Given the description of an element on the screen output the (x, y) to click on. 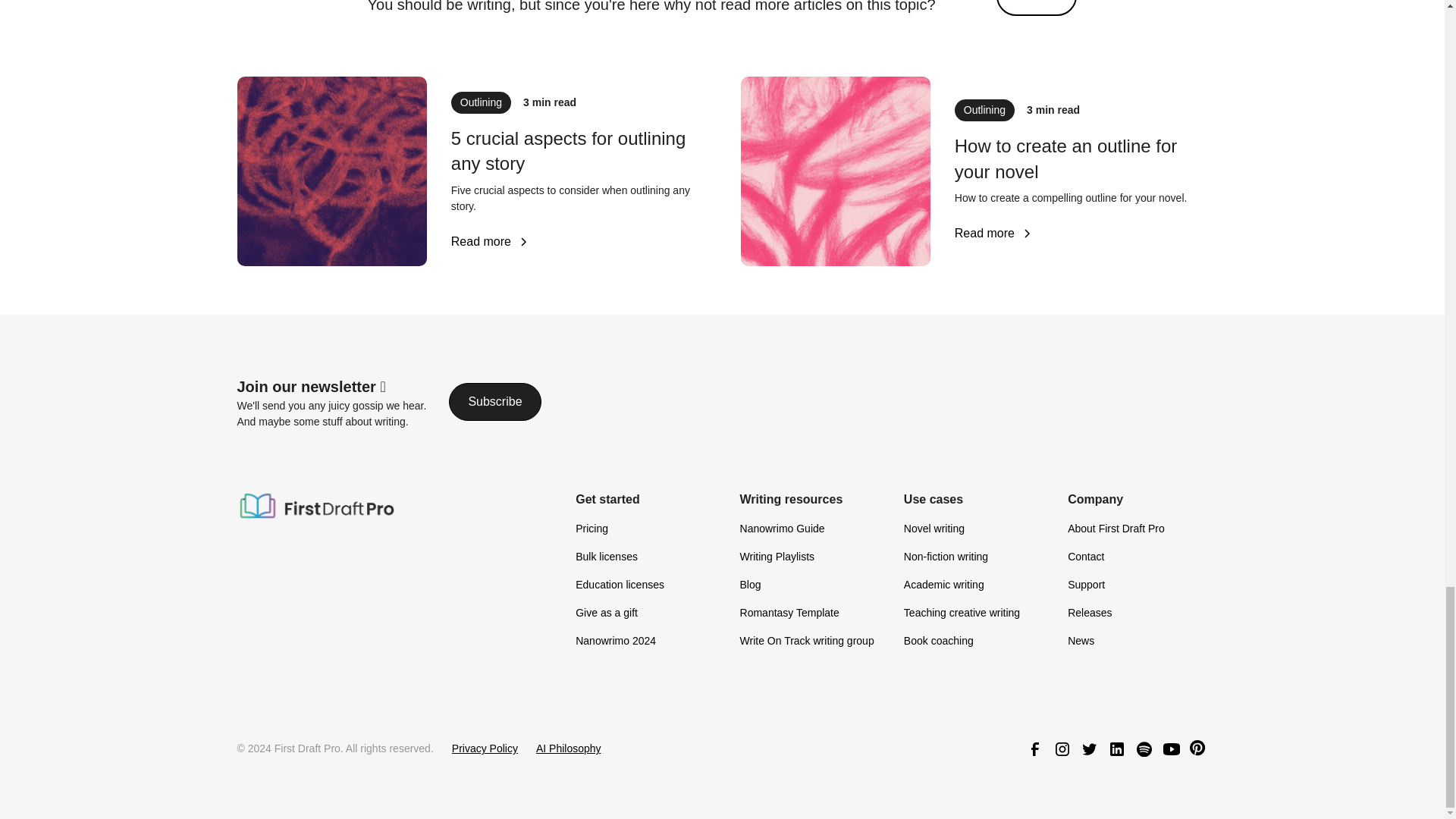
Outlining (984, 110)
Read more (490, 241)
5 crucial aspects for outlining any story (577, 151)
Outlining (481, 102)
How to create an outline for your novel (1081, 158)
View all (1036, 7)
